Given the description of an element on the screen output the (x, y) to click on. 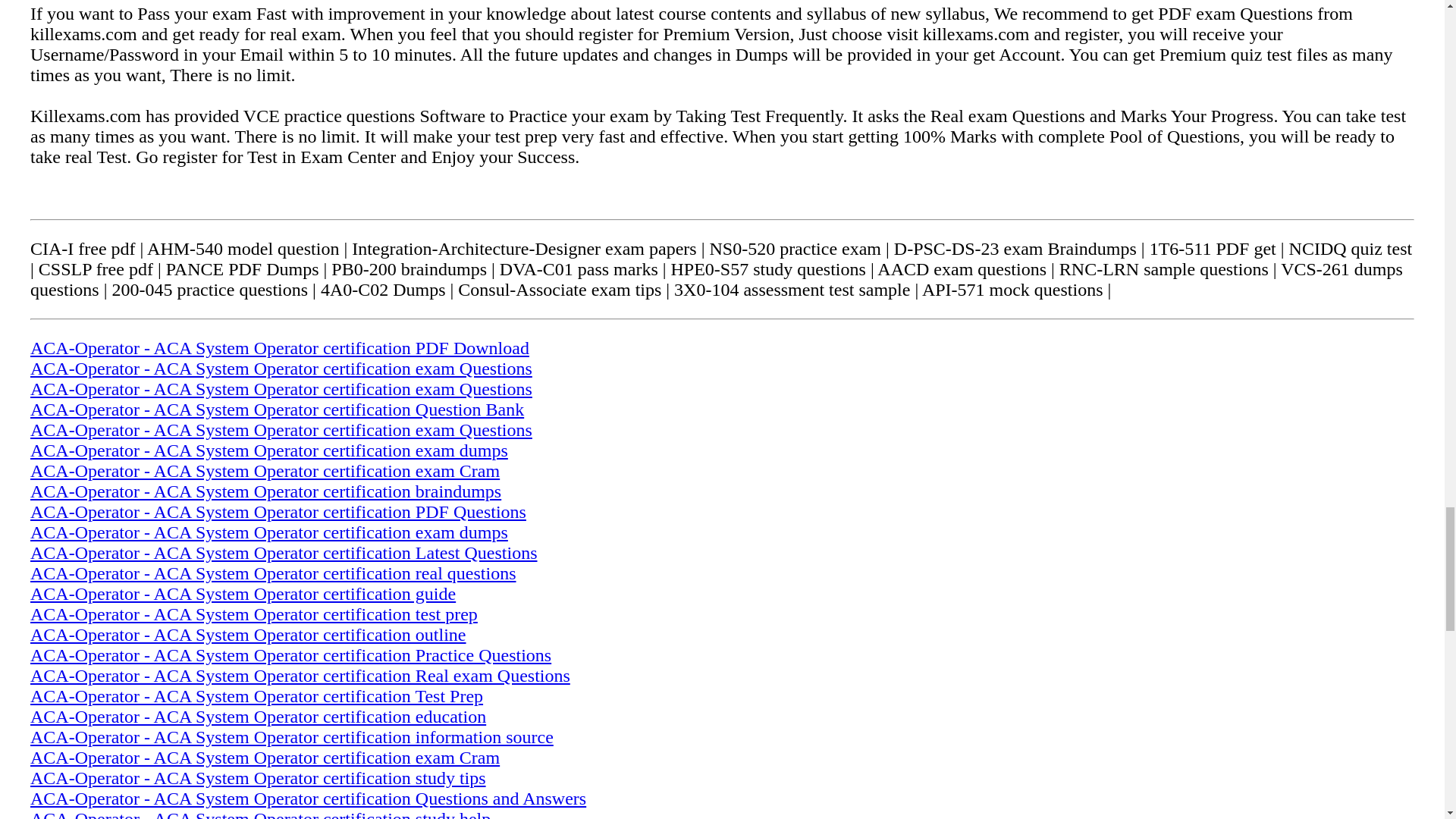
ACA-Operator - ACA System Operator certification education (258, 716)
ACA-Operator - ACA System Operator certification outline (247, 634)
ACA-Operator - ACA System Operator certification Test Prep (256, 695)
ACA-Operator - ACA System Operator certification guide (242, 593)
ACA-Operator - ACA System Operator certification study help (260, 814)
ACA-Operator - ACA System Operator certification exam dumps (269, 450)
